Given the description of an element on the screen output the (x, y) to click on. 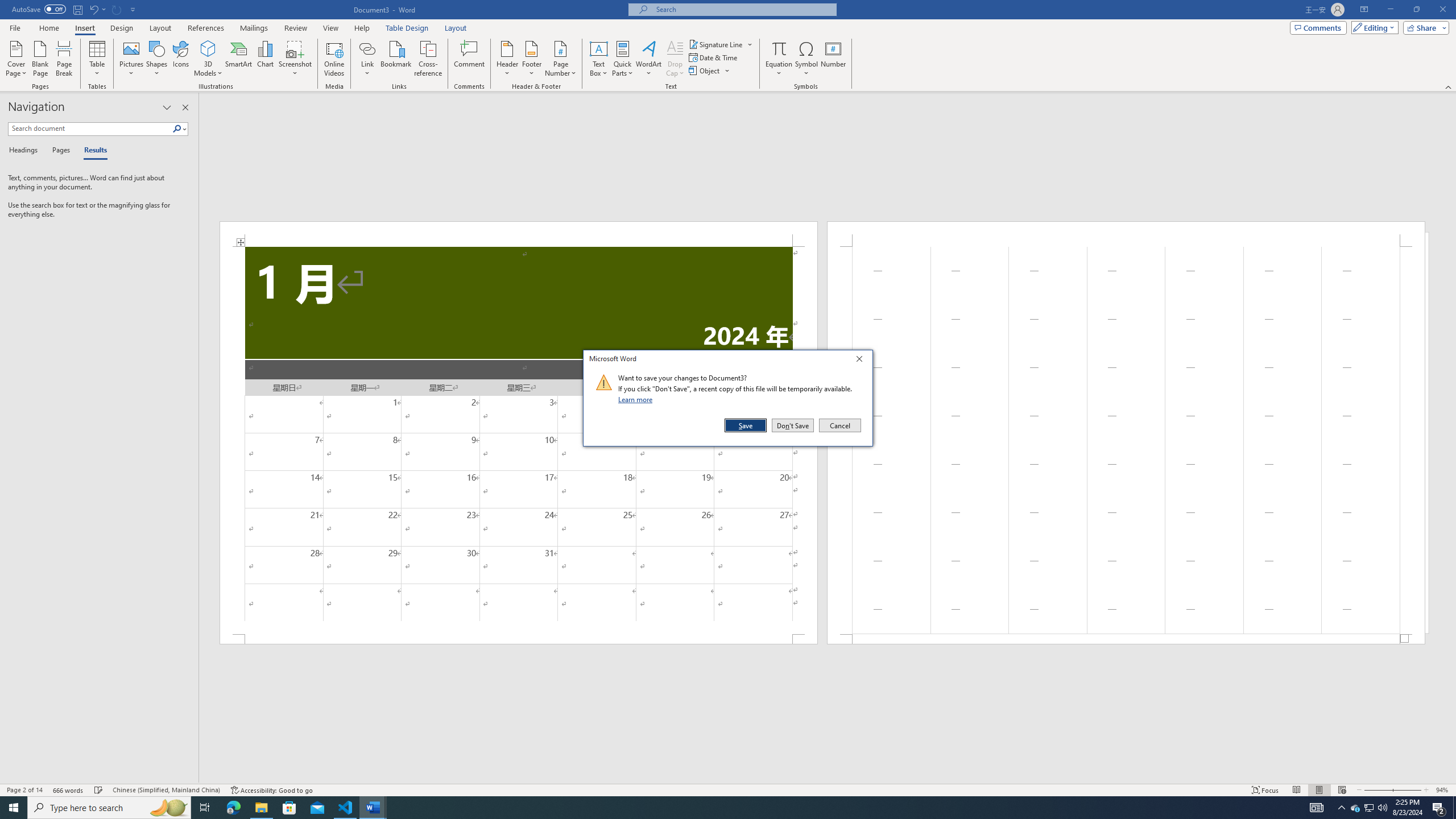
3D Models (208, 48)
Q2790: 100% (1382, 807)
Signature Line (716, 44)
Undo Apply Quick Style (92, 9)
Notification Chevron (1341, 807)
Page Number Page 2 of 14 (24, 790)
Show desktop (1368, 807)
Page Break (1454, 807)
